Given the description of an element on the screen output the (x, y) to click on. 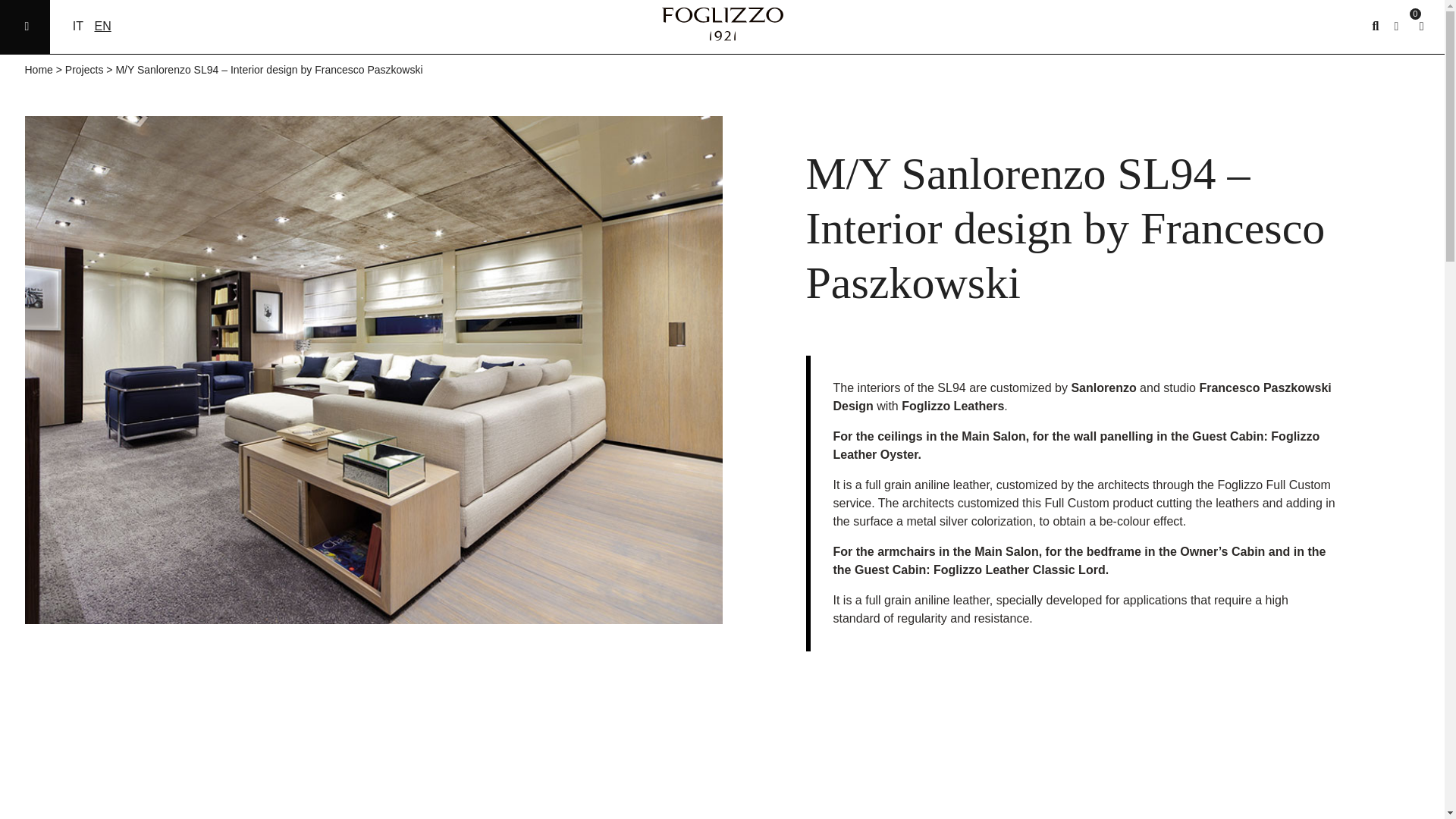
EN (102, 25)
en (102, 25)
Home (38, 69)
Projects (84, 69)
